Given the description of an element on the screen output the (x, y) to click on. 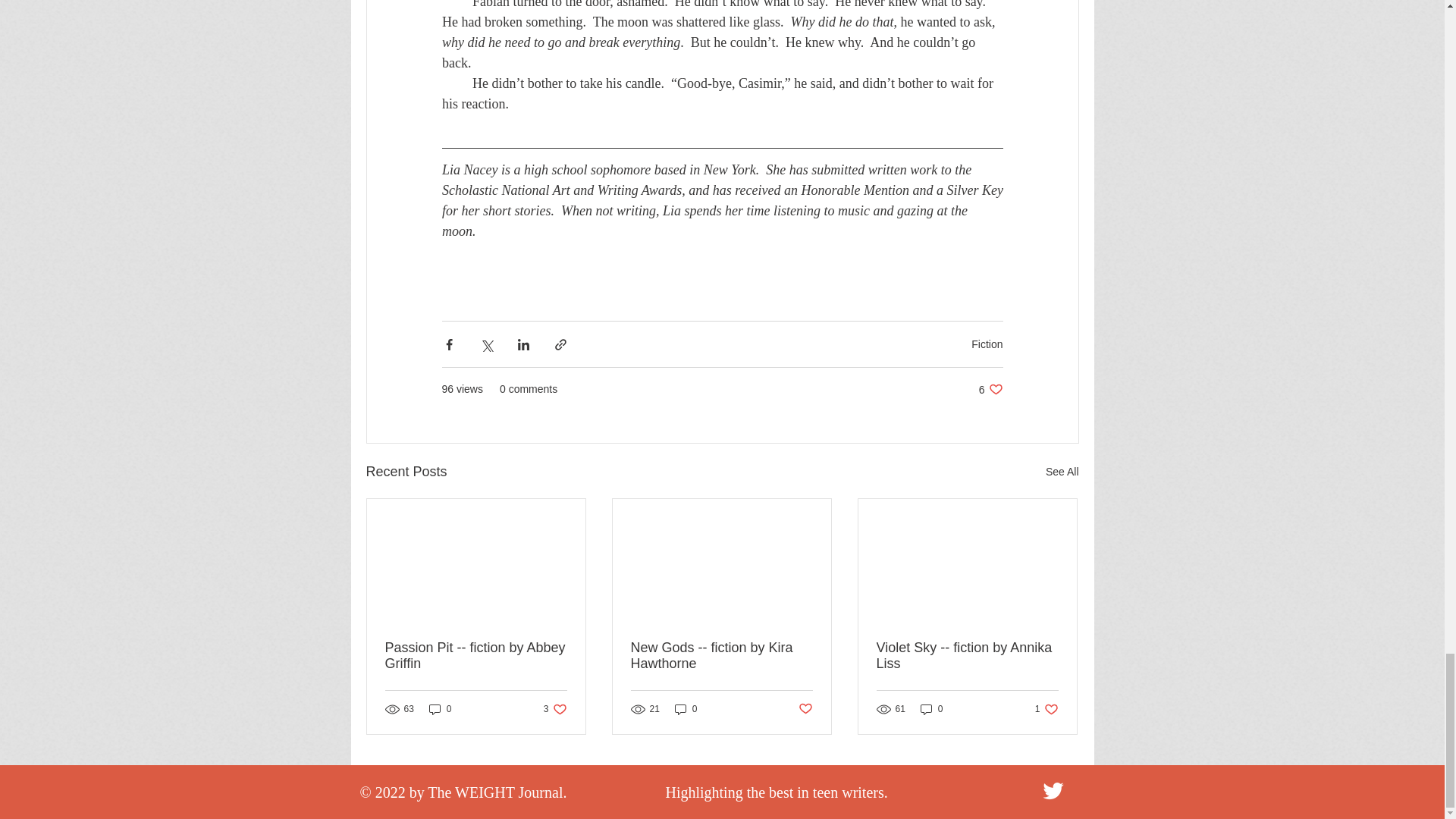
Fiction (990, 389)
See All (987, 343)
Passion Pit -- fiction by Abbey Griffin (555, 708)
0 (1061, 472)
Violet Sky -- fiction by Annika Liss (476, 655)
Post not marked as liked (440, 708)
0 (1046, 708)
